Given the description of an element on the screen output the (x, y) to click on. 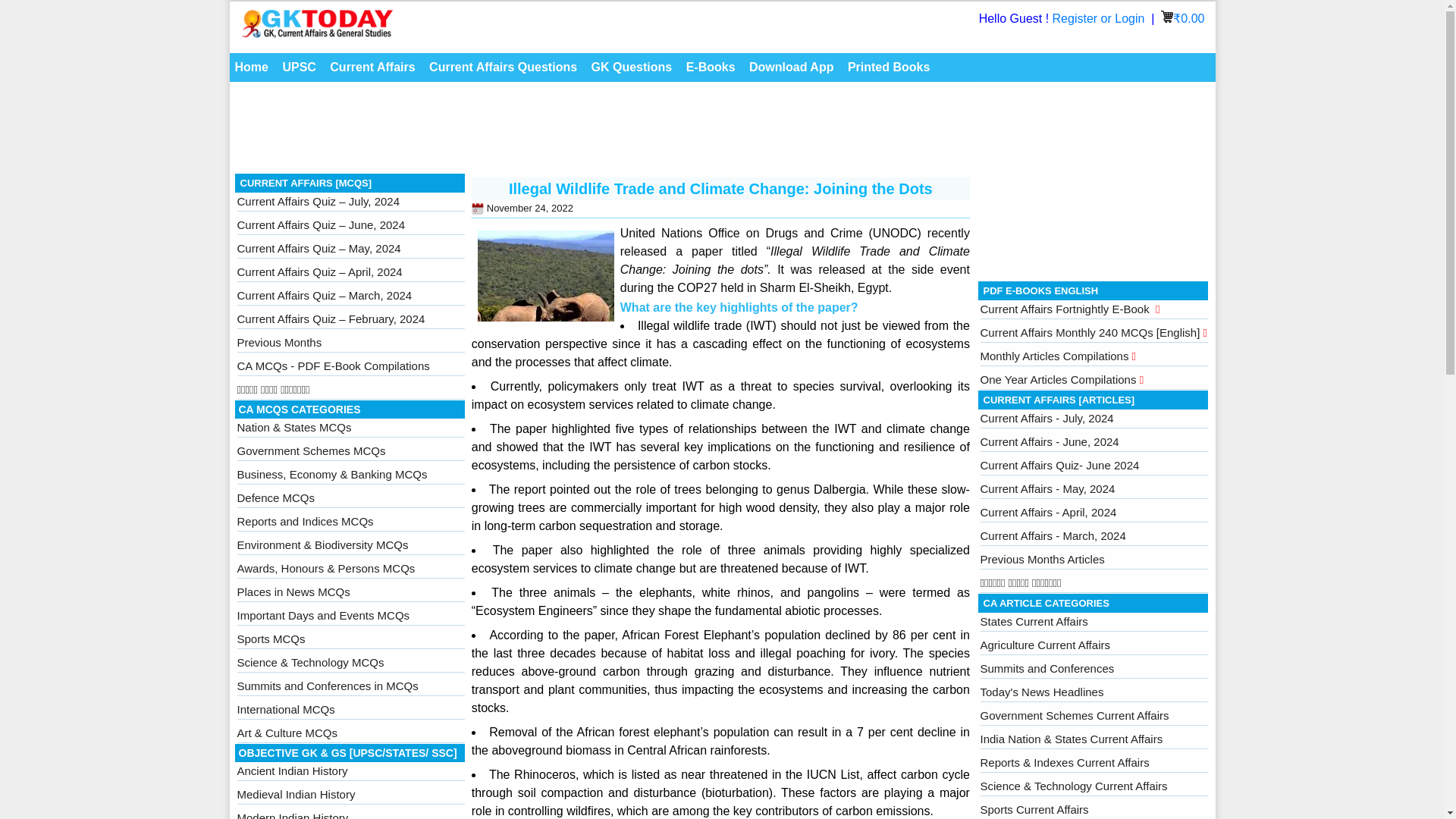
UPSC (298, 67)
Home (250, 67)
Previous Months (278, 341)
Current Affairs Questions (502, 67)
GK Questions (632, 67)
Download App (791, 67)
Register or Login (1100, 18)
CA MCQs - PDF E-Book Compilations (332, 365)
Government Schemes MCQs (310, 450)
Printed Books (888, 67)
Advertisement (602, 131)
Current Affairs (372, 67)
Advertisement (1093, 181)
E-Books (711, 67)
